Given the description of an element on the screen output the (x, y) to click on. 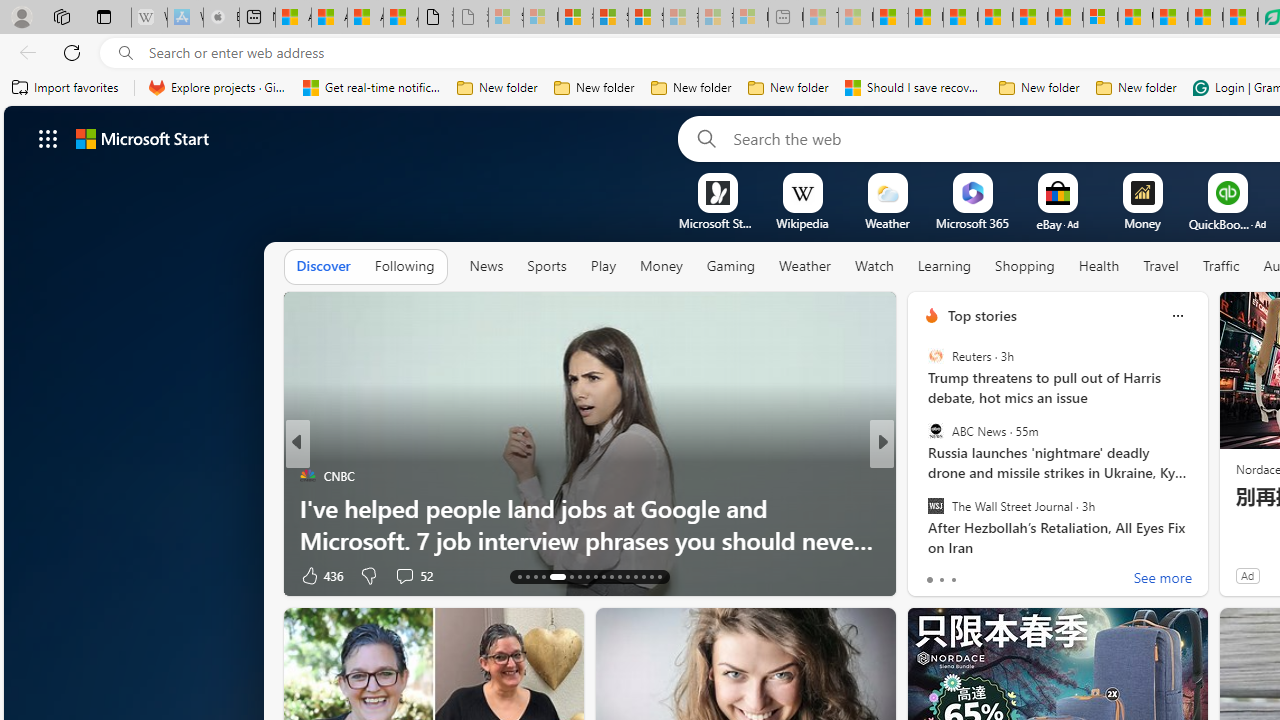
8 Like (930, 574)
Class: control (47, 138)
The Wall Street Journal (935, 505)
View comments 8 Comment (1019, 574)
View comments 52 Comment (413, 574)
AutomationID: tab-13 (518, 576)
Marine life - MSN - Sleeping (855, 17)
